Given the description of an element on the screen output the (x, y) to click on. 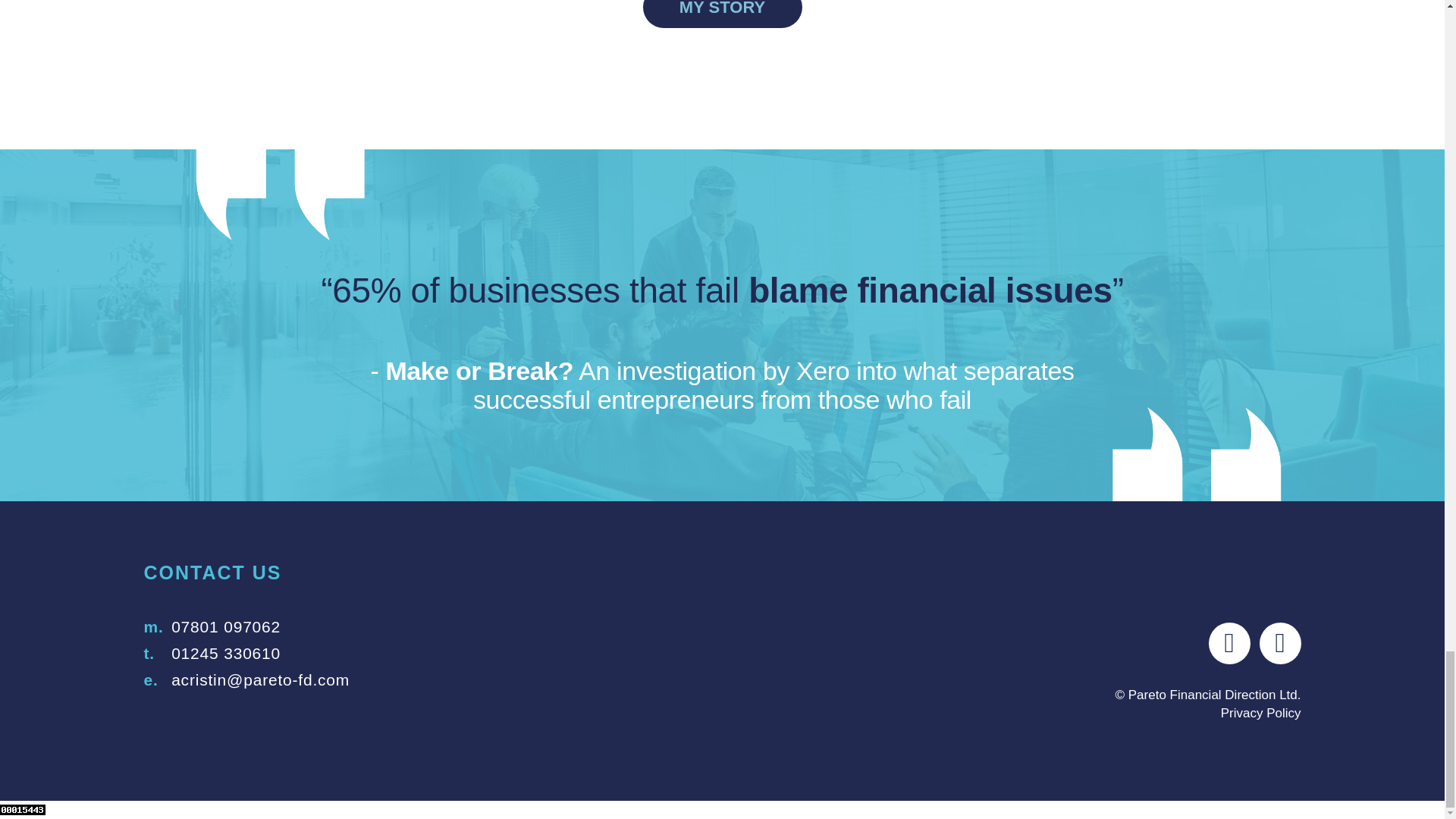
My story (722, 13)
01245 330610 (226, 652)
Call us (226, 626)
07801 097062 (226, 626)
Mail us (260, 679)
Call us (226, 652)
MY STORY (722, 13)
Privacy Policy (1261, 712)
